Given the description of an element on the screen output the (x, y) to click on. 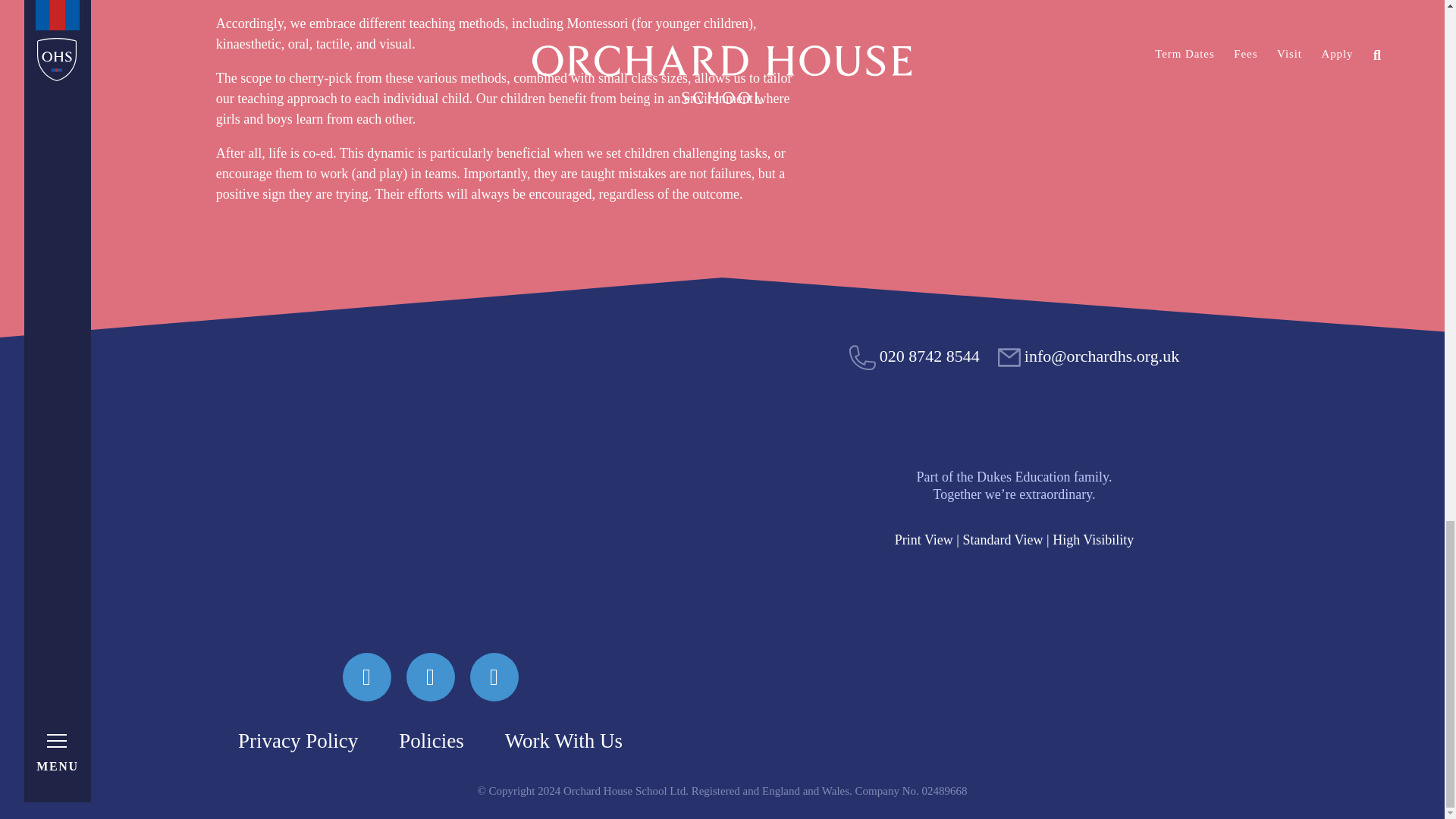
Switch to Standard Visibility (1002, 539)
Switch to High Visibility (1093, 539)
Email (1088, 355)
Switch to Print (924, 539)
Phone (913, 355)
